Given the description of an element on the screen output the (x, y) to click on. 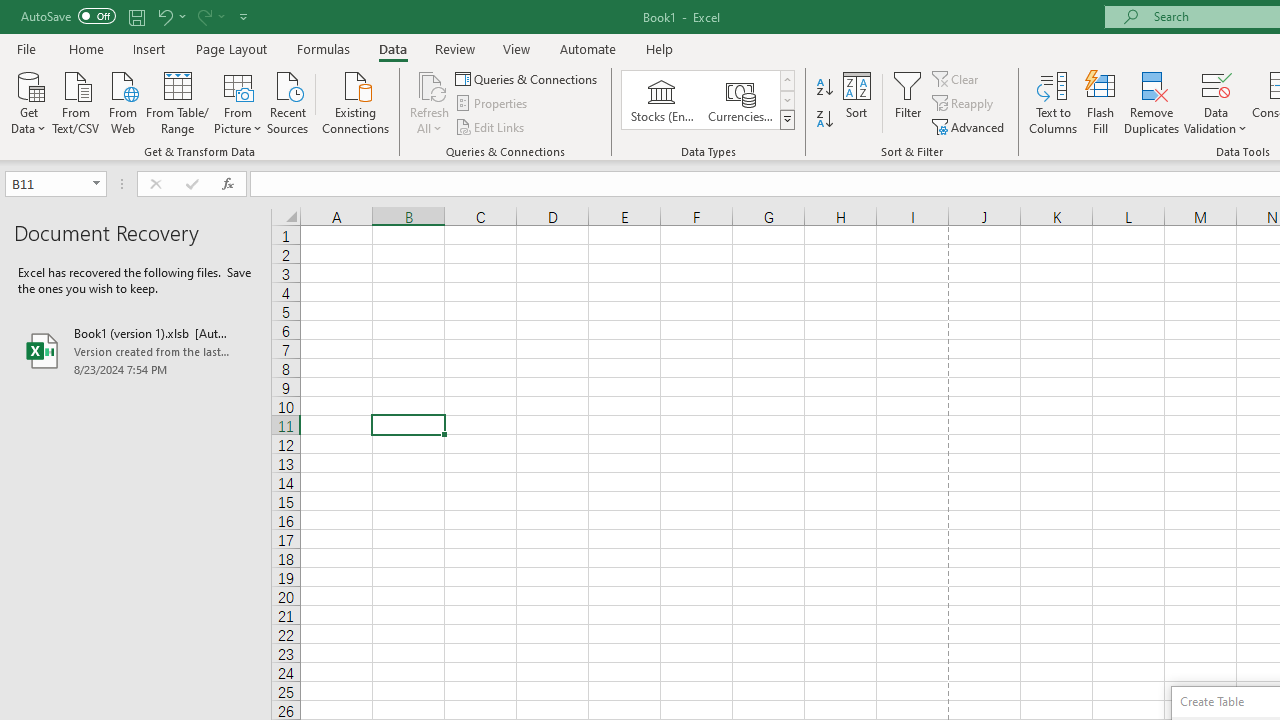
Edit Links (491, 126)
Properties (492, 103)
Reapply (964, 103)
From Web (122, 101)
Get Data (28, 101)
Text to Columns... (1053, 102)
From Picture (238, 101)
